Given the description of an element on the screen output the (x, y) to click on. 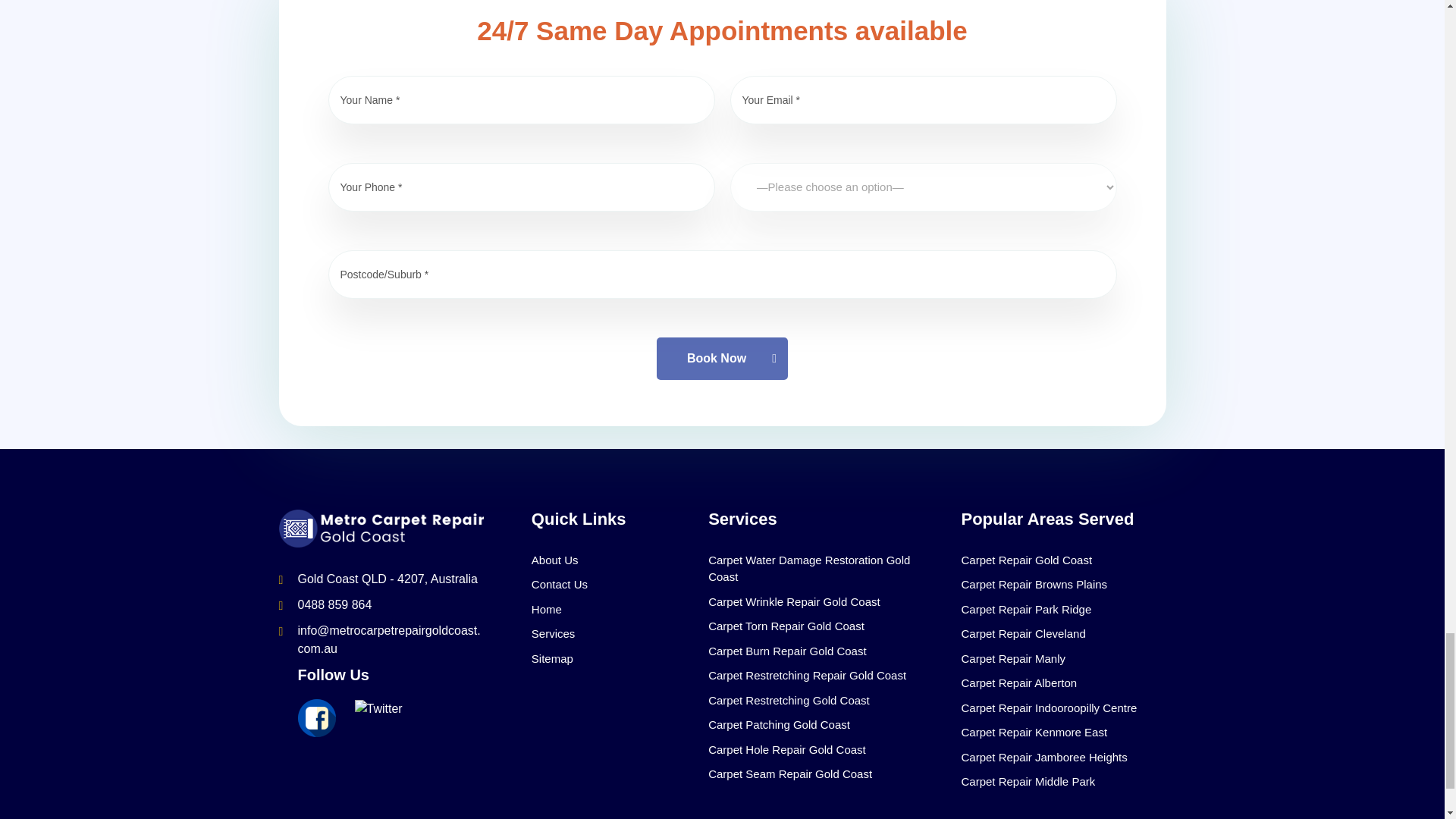
Book Now (721, 358)
0488 859 864 (334, 604)
